Given the description of an element on the screen output the (x, y) to click on. 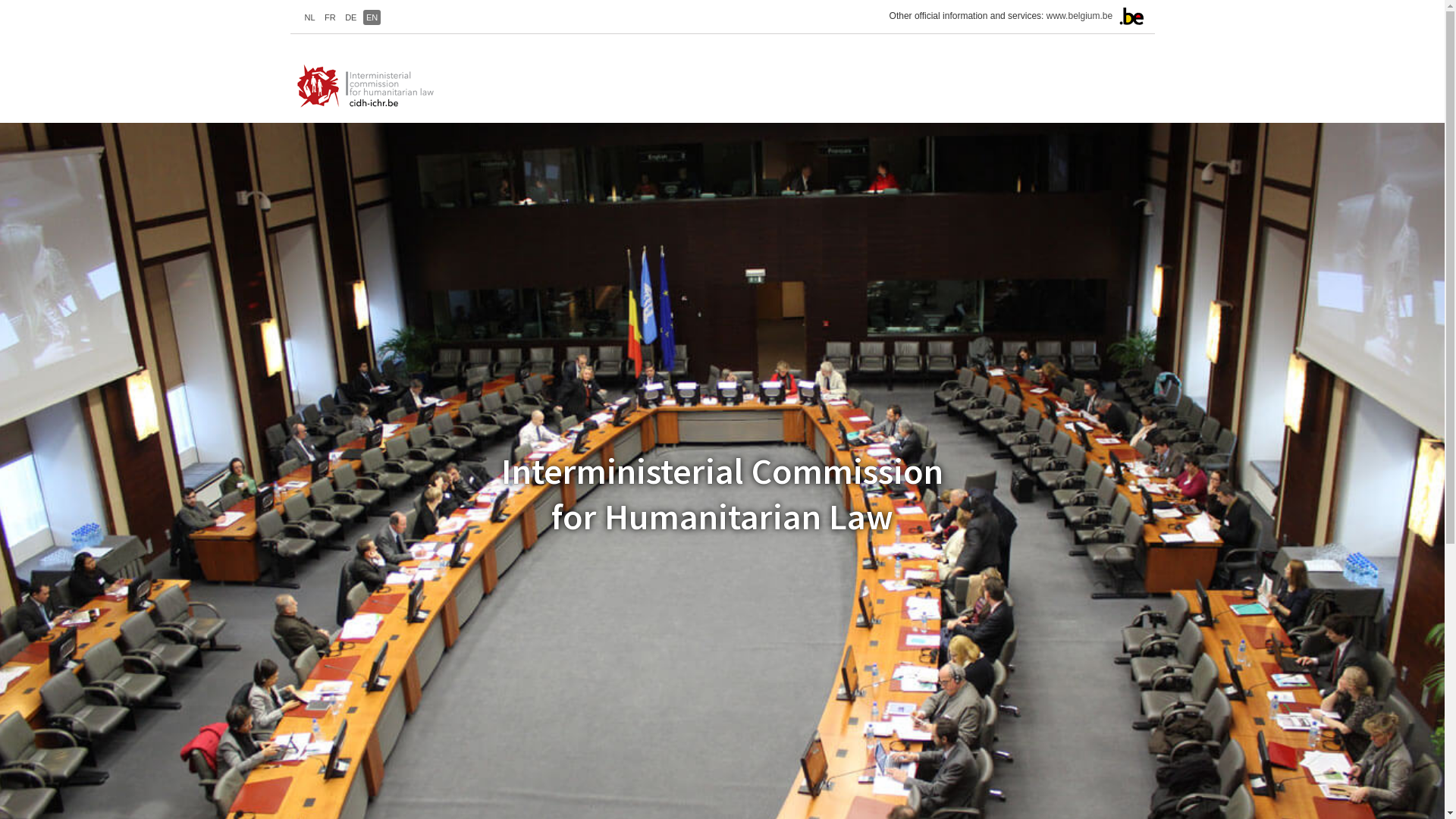
Home Element type: hover (370, 85)
DE Element type: text (350, 17)
EN Element type: text (371, 17)
Skip to main content Element type: text (0, 0)
www.belgium.be Element type: text (1079, 15)
NL Element type: text (309, 17)
FR Element type: text (329, 17)
